Given the description of an element on the screen output the (x, y) to click on. 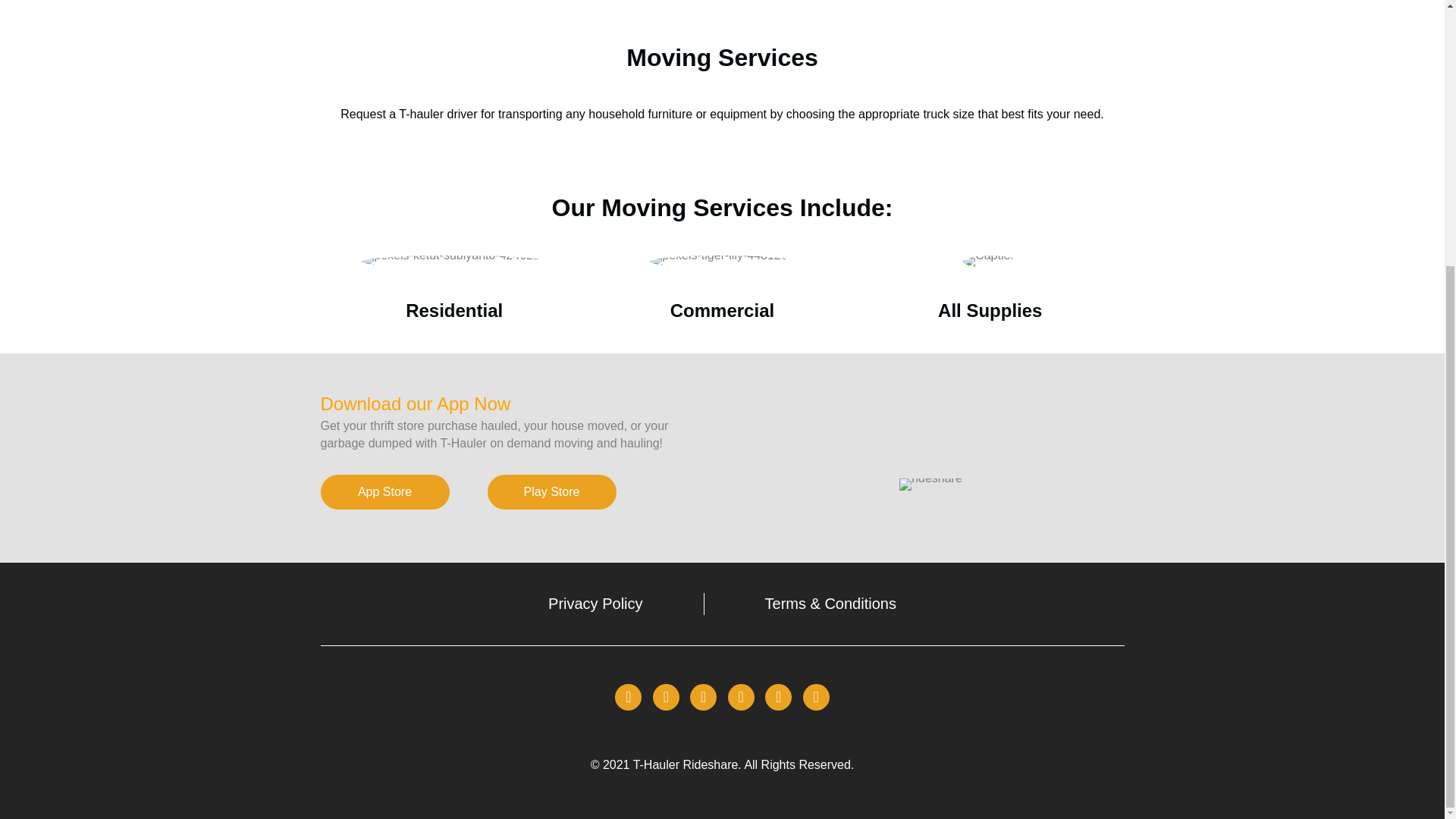
pexels-tiger-lily-4481260 (721, 261)
pexels-elevate-1267338 (989, 261)
App Store (384, 492)
rideshare (930, 484)
Privacy Policy (595, 603)
Play Store (550, 492)
pexels-ketut-subiyanto-4246218 (454, 261)
